Given the description of an element on the screen output the (x, y) to click on. 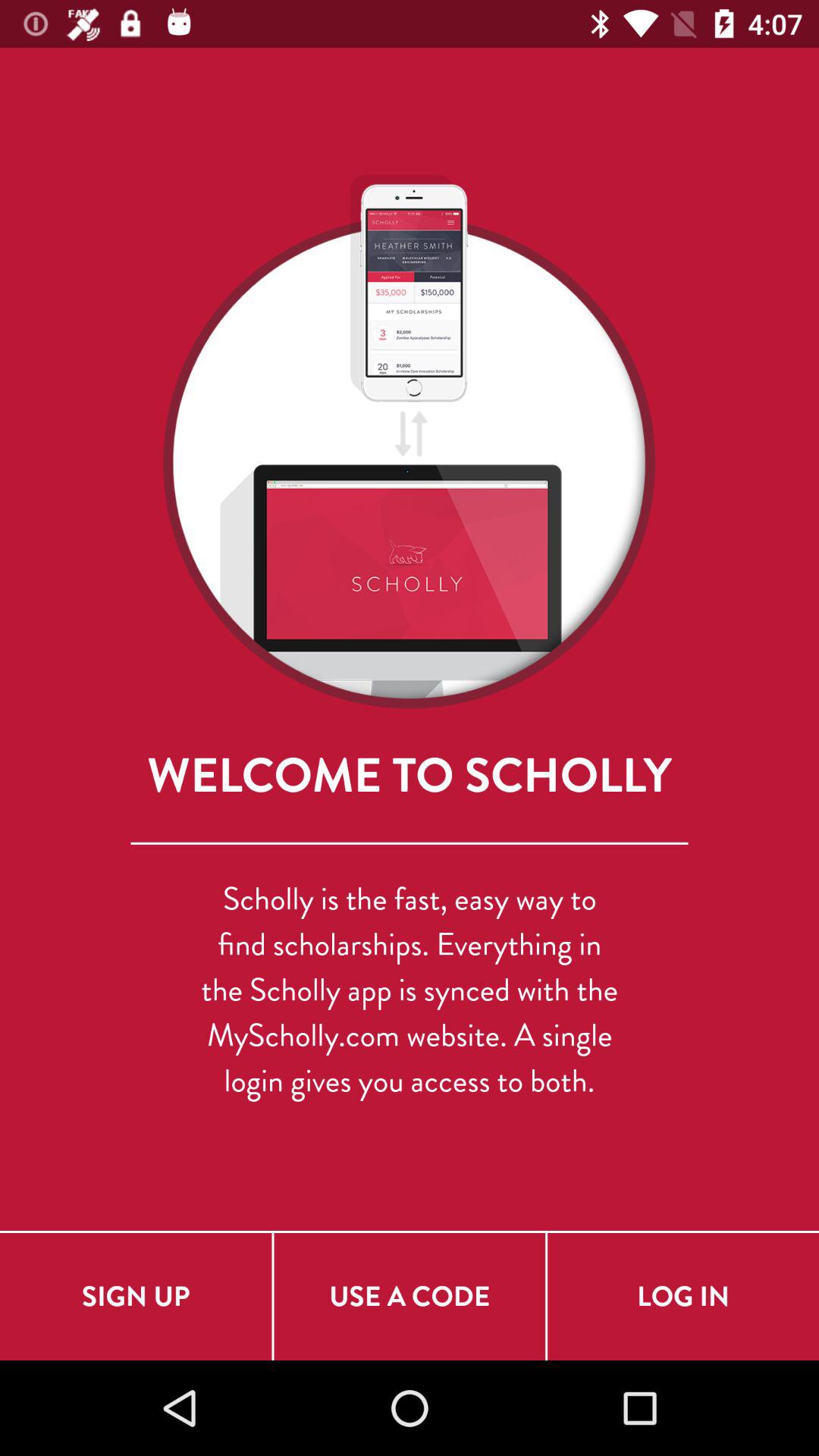
jump until the use a code item (409, 1296)
